Given the description of an element on the screen output the (x, y) to click on. 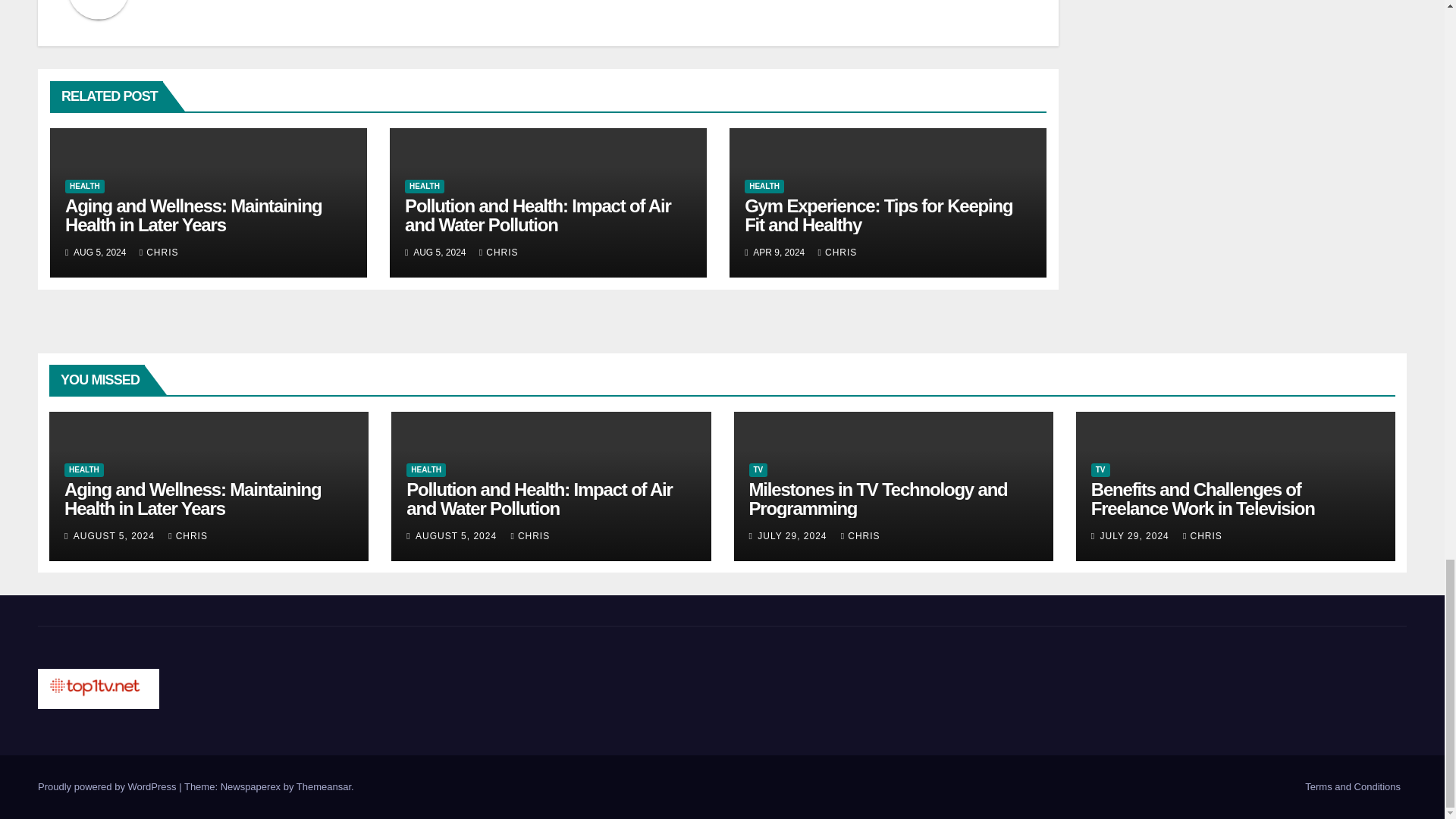
CHRIS (159, 252)
Aging and Wellness: Maintaining Health in Later Years (193, 215)
HEALTH (84, 186)
HEALTH (424, 186)
Pollution and Health: Impact of Air and Water Pollution (536, 215)
